Given the description of an element on the screen output the (x, y) to click on. 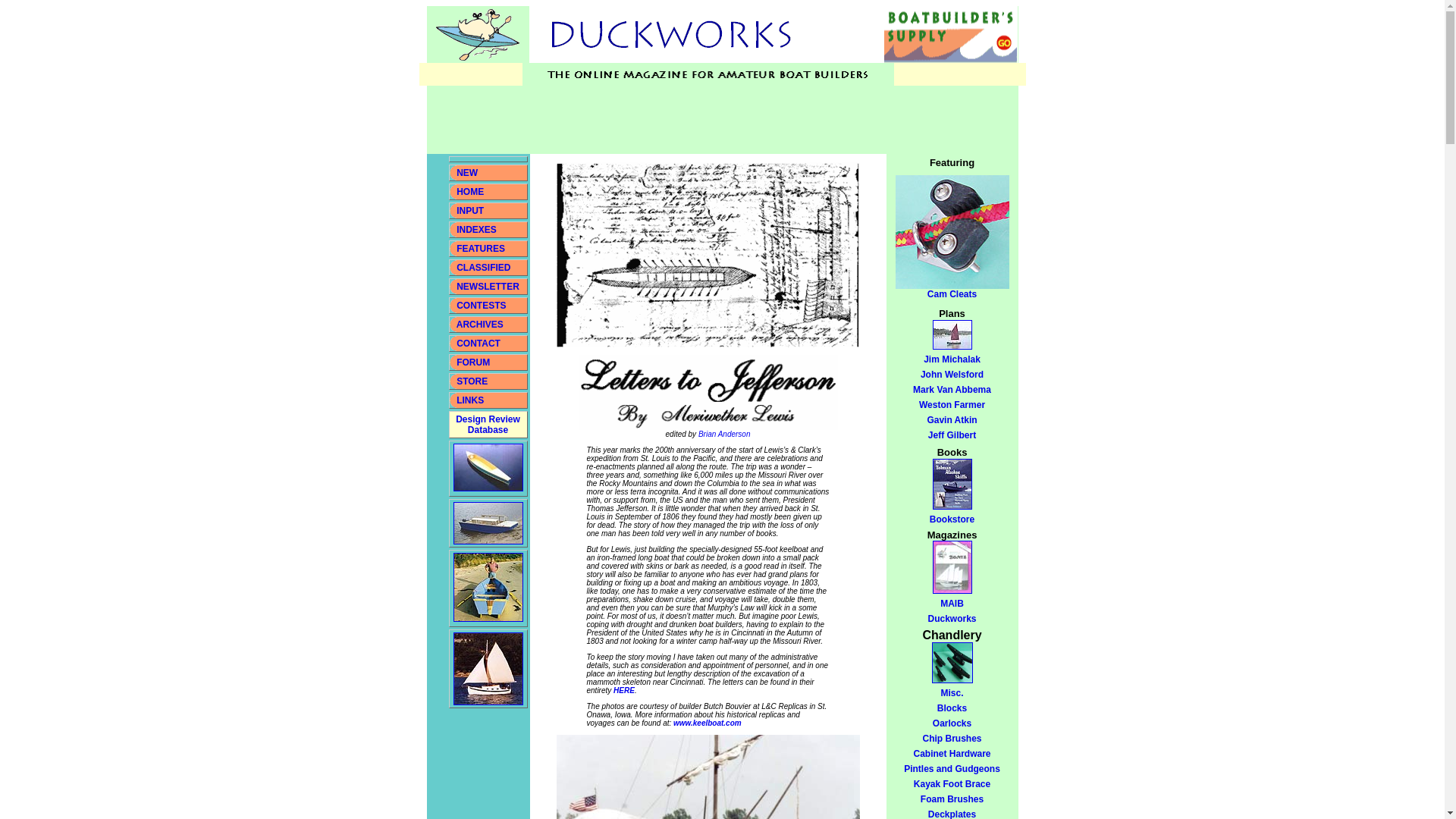
HOME (470, 191)
CLASSIFIED (484, 267)
ARCHIVES (480, 324)
Brian Anderson (724, 433)
Gavin Atkin (951, 419)
www.keelboat.com (706, 723)
Jeff Gilbert (951, 434)
Advertisement (702, 119)
Weston Farmer (487, 424)
INDEXES (951, 404)
INPUT (476, 229)
STORE (470, 210)
HERE (472, 380)
FEATURES (623, 690)
